Given the description of an element on the screen output the (x, y) to click on. 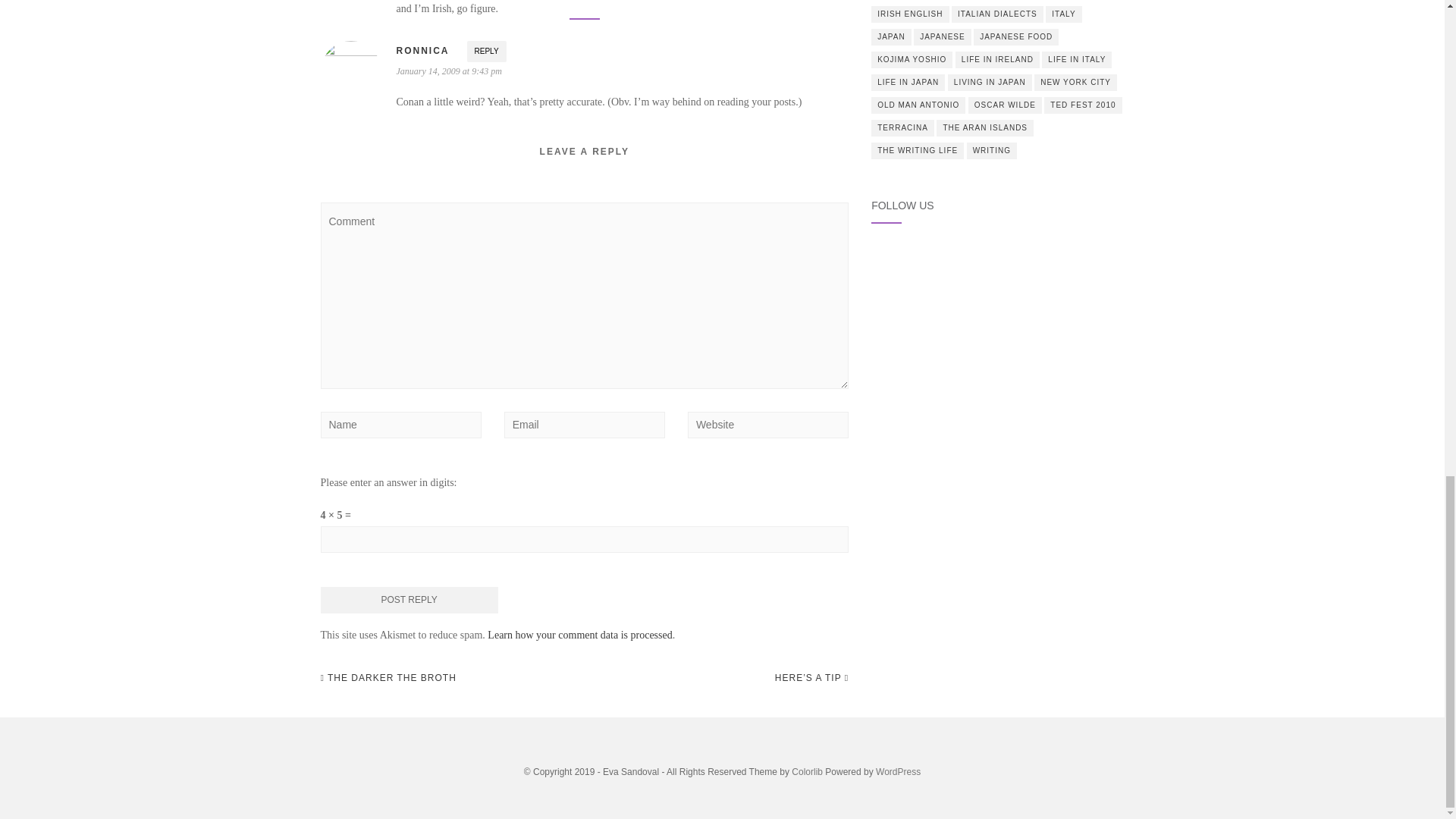
THE DARKER THE BROTH (387, 678)
Post Reply (408, 600)
Learn how your comment data is processed (579, 634)
RONNICA (422, 50)
REPLY (486, 51)
January 14, 2009 at 9:43 pm (448, 71)
Post Reply (408, 600)
